Given the description of an element on the screen output the (x, y) to click on. 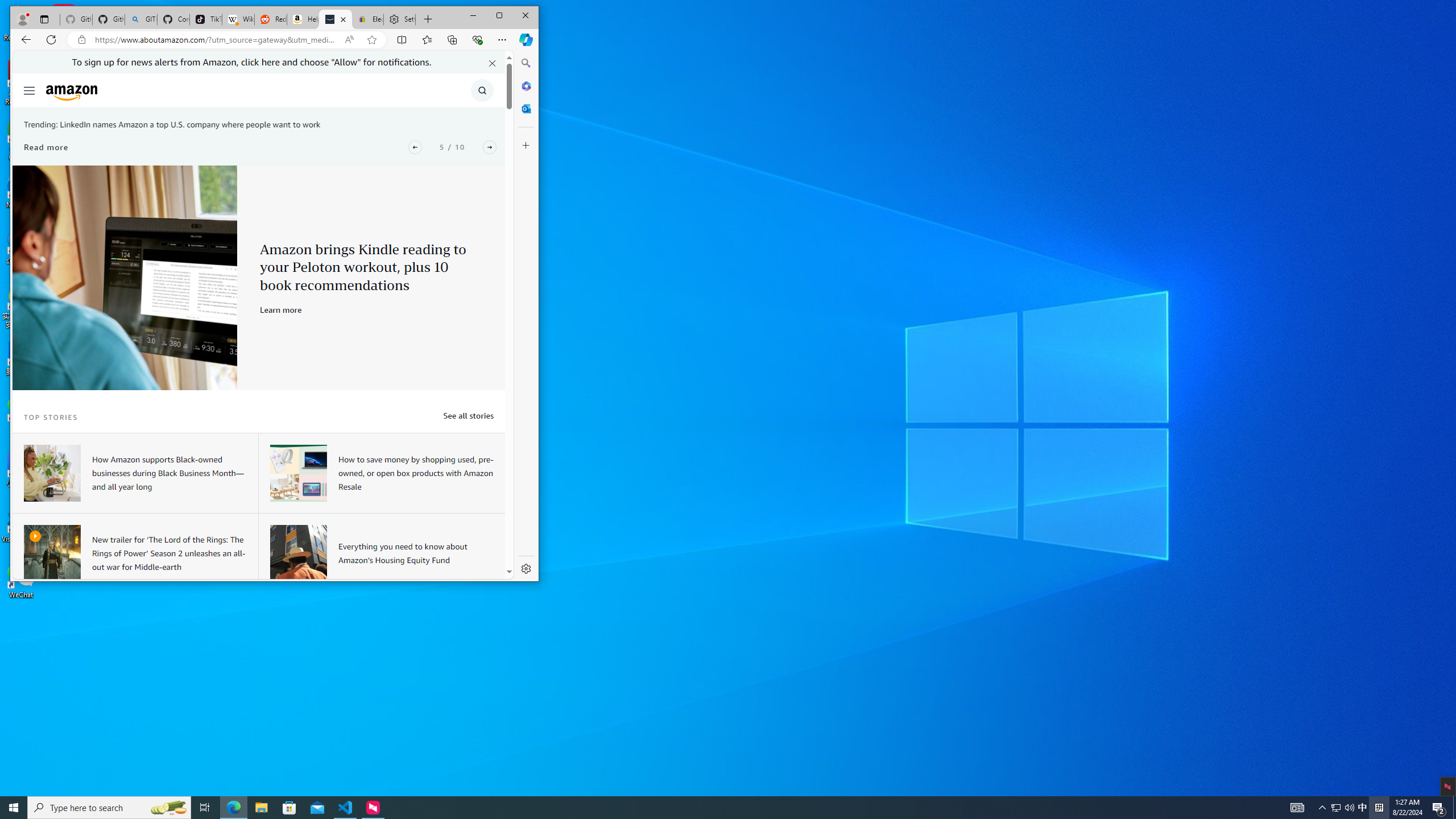
TikTok (205, 19)
User Promoted Notification Area (1342, 807)
A woman sitting at a desk working on a laptop device. (51, 472)
A woman sitting at a desk working on a laptop device. (51, 472)
Start (13, 807)
